Given the description of an element on the screen output the (x, y) to click on. 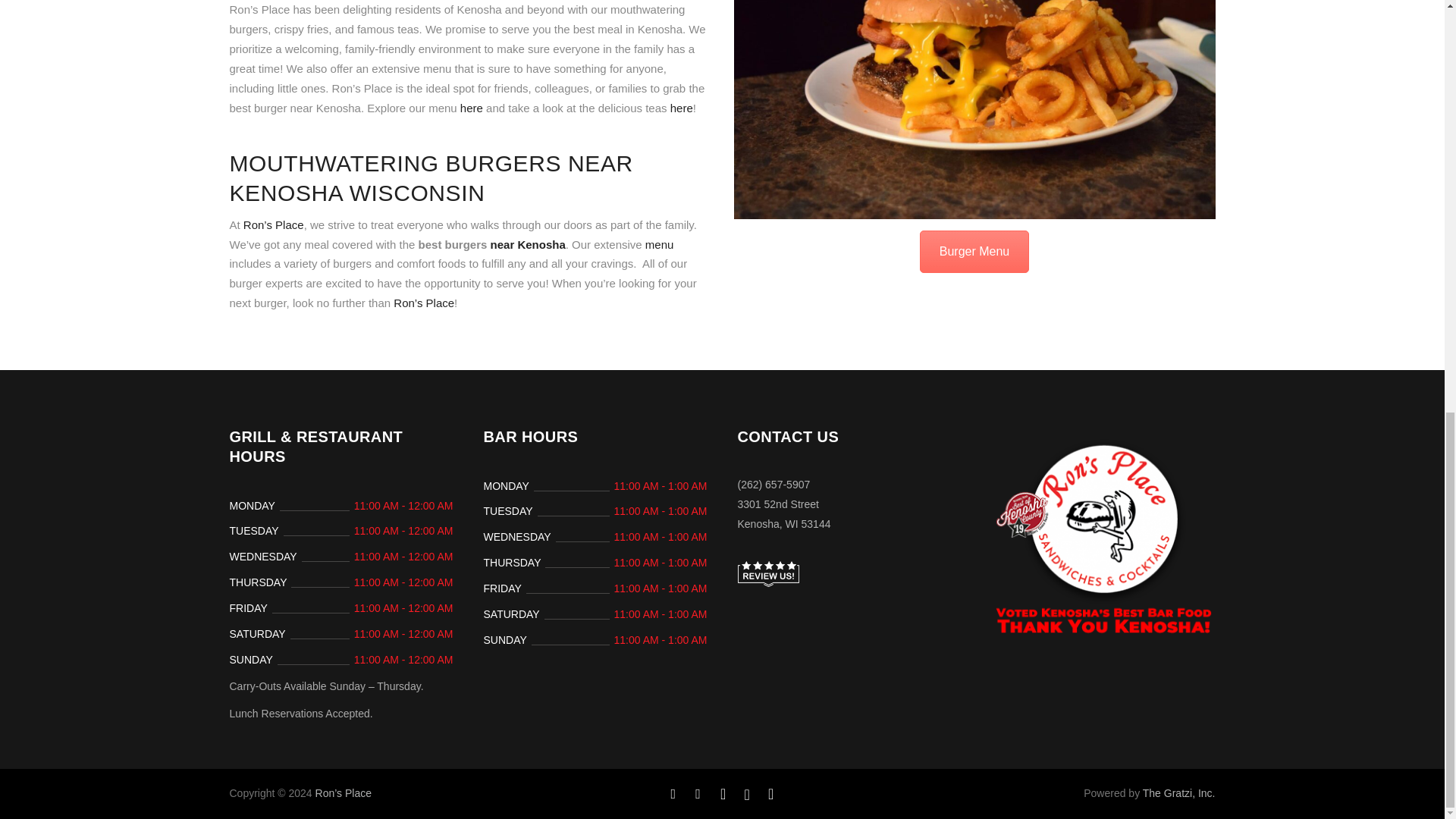
The BEST Burger near Kenosha (974, 109)
menu (659, 243)
near Kenosha (528, 243)
Burger Menu (974, 251)
Leave us a review here! (766, 574)
here (471, 107)
here (681, 107)
